Given the description of an element on the screen output the (x, y) to click on. 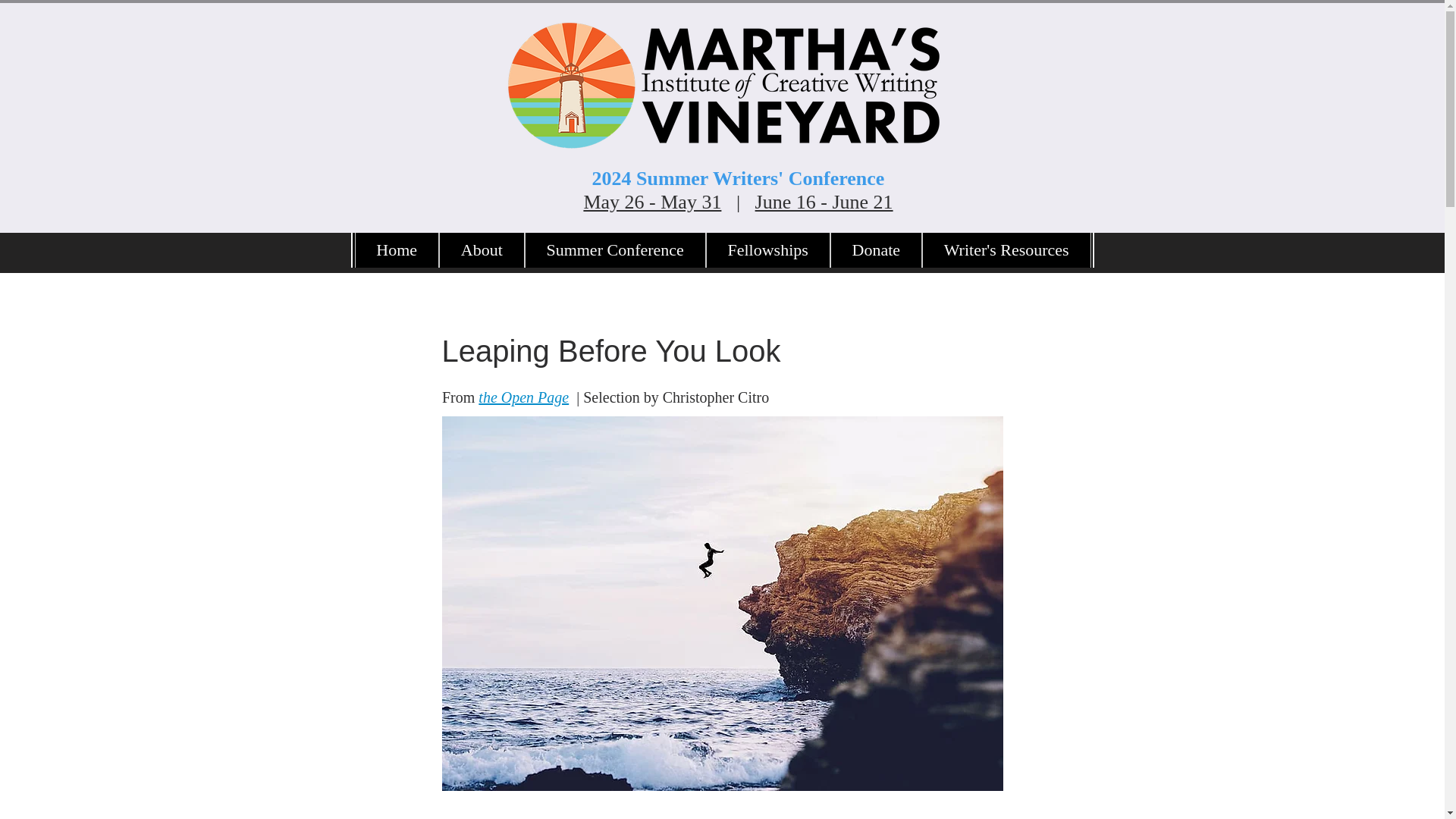
2024 Summer Writers' Conference (738, 178)
Donate (875, 249)
May 26 - May 31 (651, 201)
June 16 - June 21 (824, 201)
the Open Page (524, 397)
Home (397, 249)
Fellowships (767, 249)
